Given the description of an element on the screen output the (x, y) to click on. 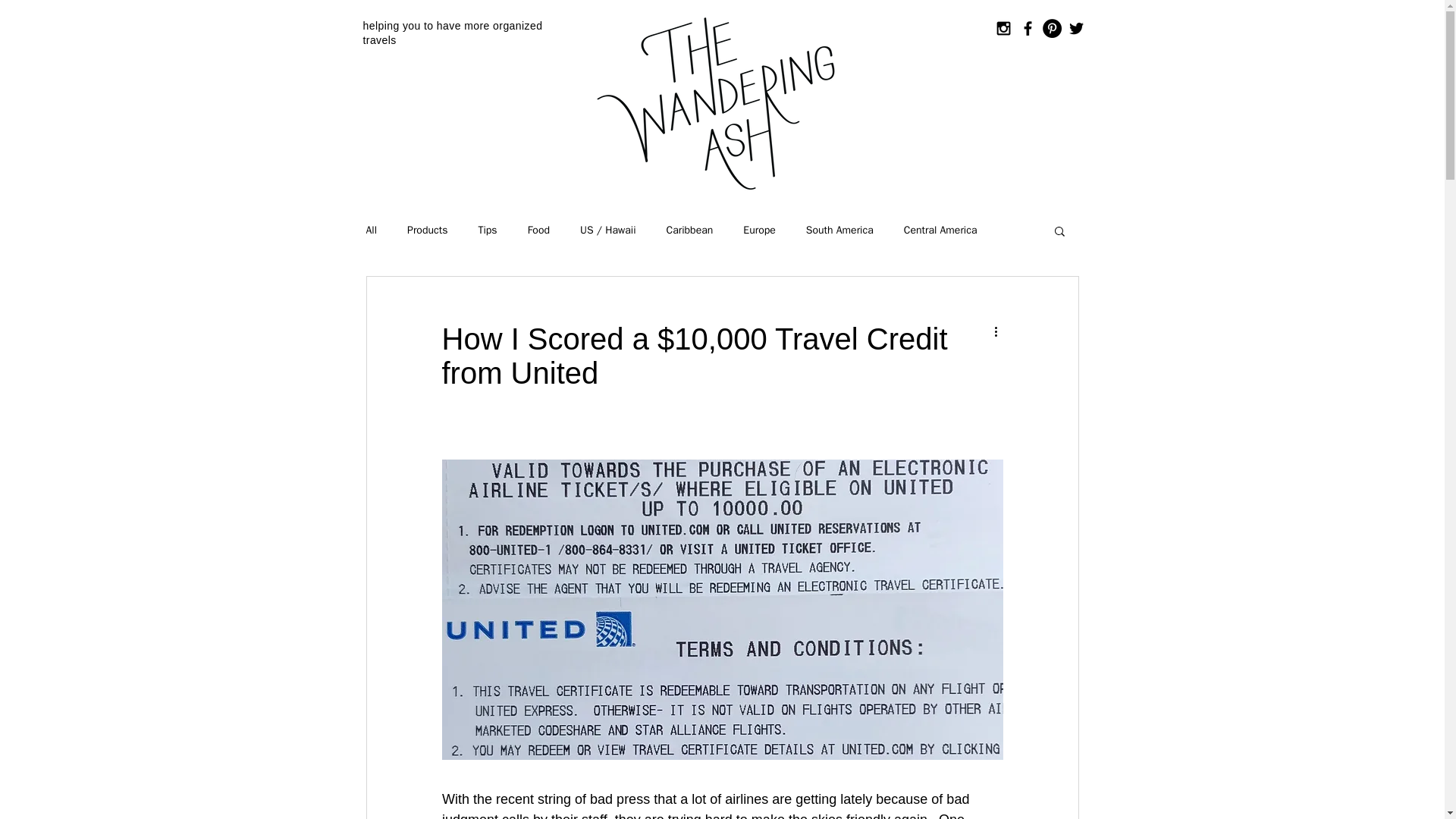
Europe (759, 230)
Caribbean (689, 230)
Food (538, 230)
Products (426, 230)
Tips (486, 230)
South America (839, 230)
Central America (940, 230)
